Given the description of an element on the screen output the (x, y) to click on. 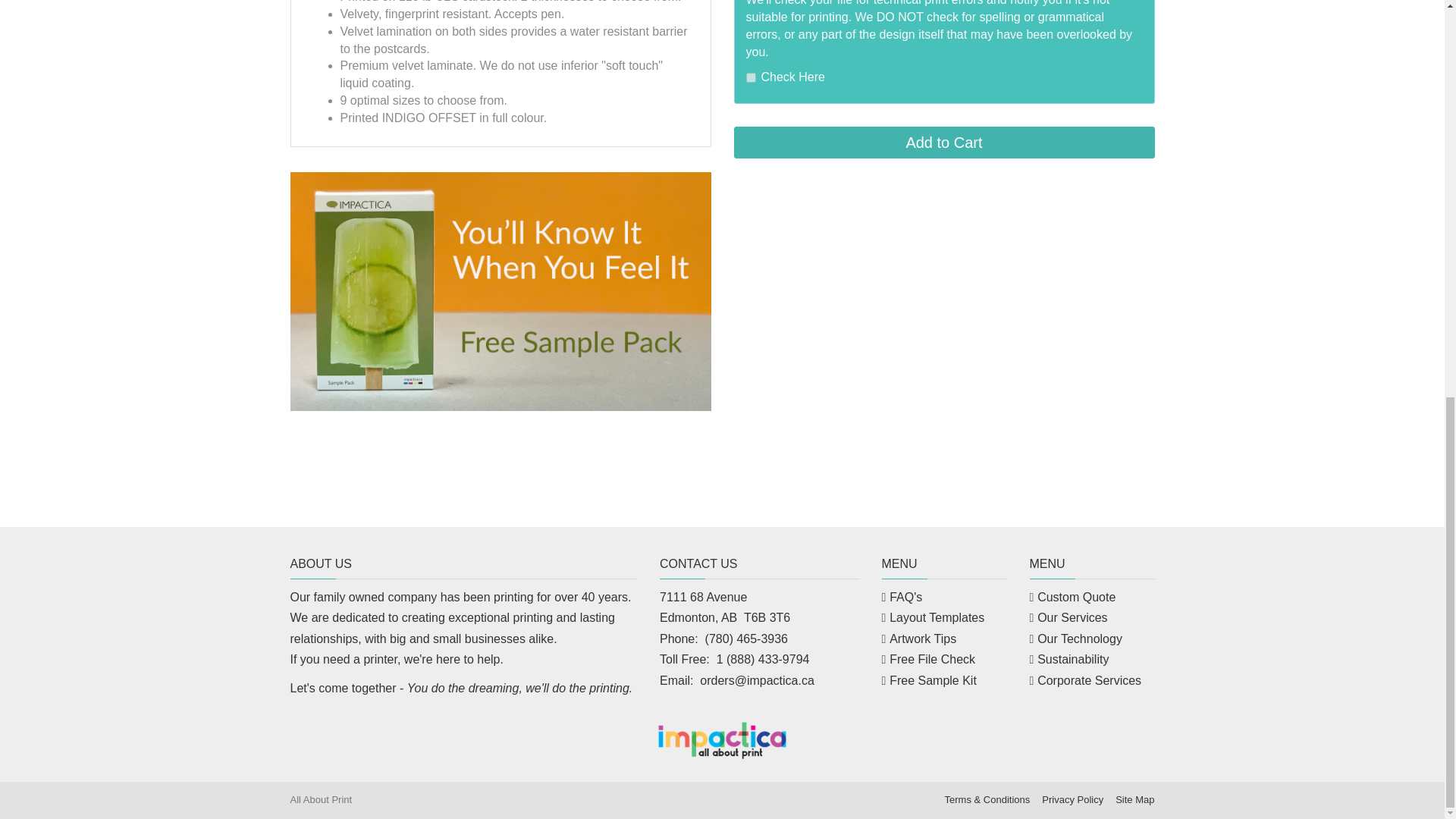
Add to Cart (943, 142)
Impactica (722, 740)
on (750, 77)
